Given the description of an element on the screen output the (x, y) to click on. 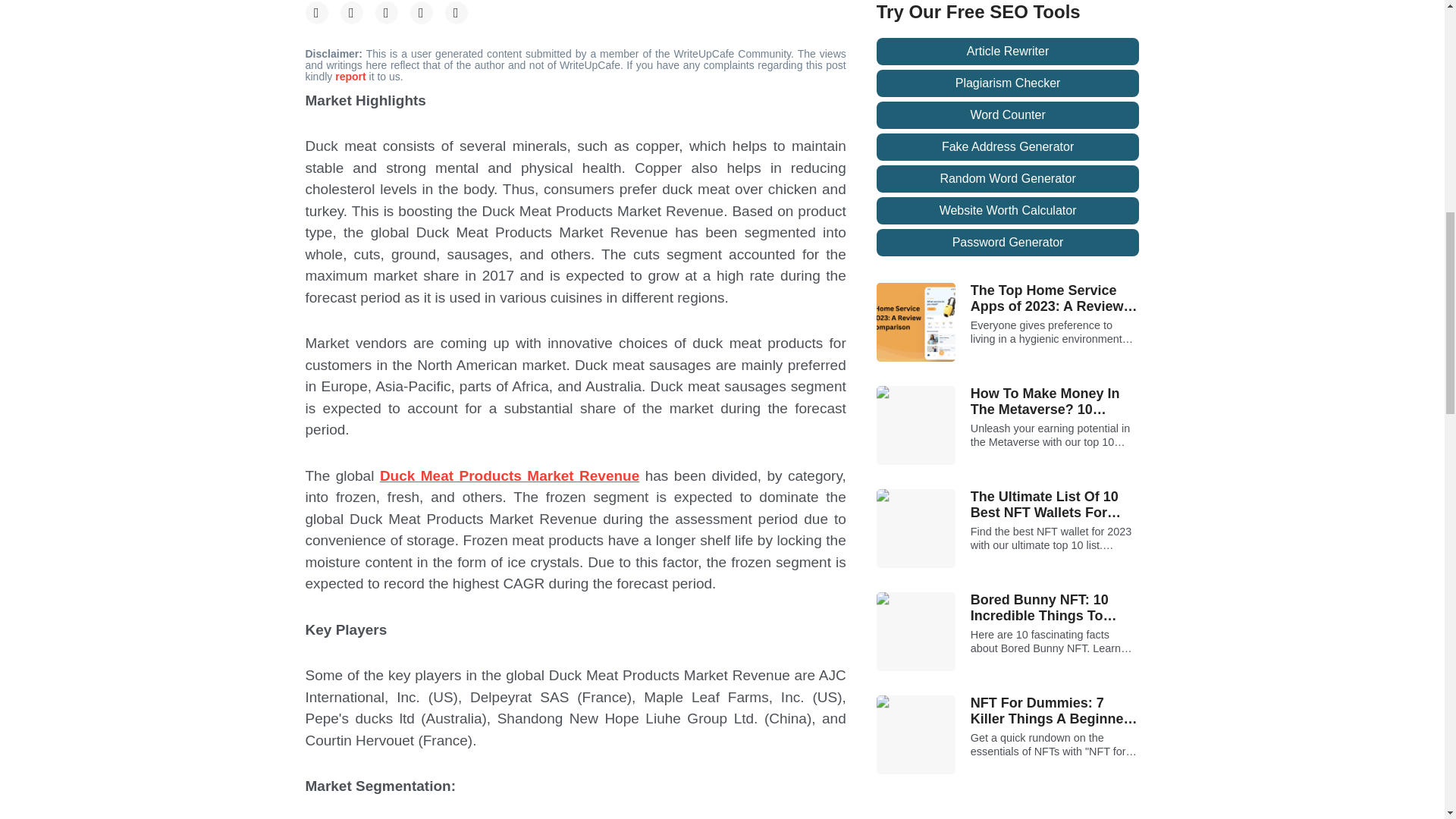
The Ultimate List Of 10 Best NFT Wallets For 2023 (1055, 504)
Article Rewriter (1008, 51)
Word Counter (1008, 114)
Fake Address Generator (1008, 146)
Duck Meat Products Market Revenue (509, 475)
report (351, 76)
Website Worth Calculator (1008, 210)
Password Generator (1008, 242)
